Given the description of an element on the screen output the (x, y) to click on. 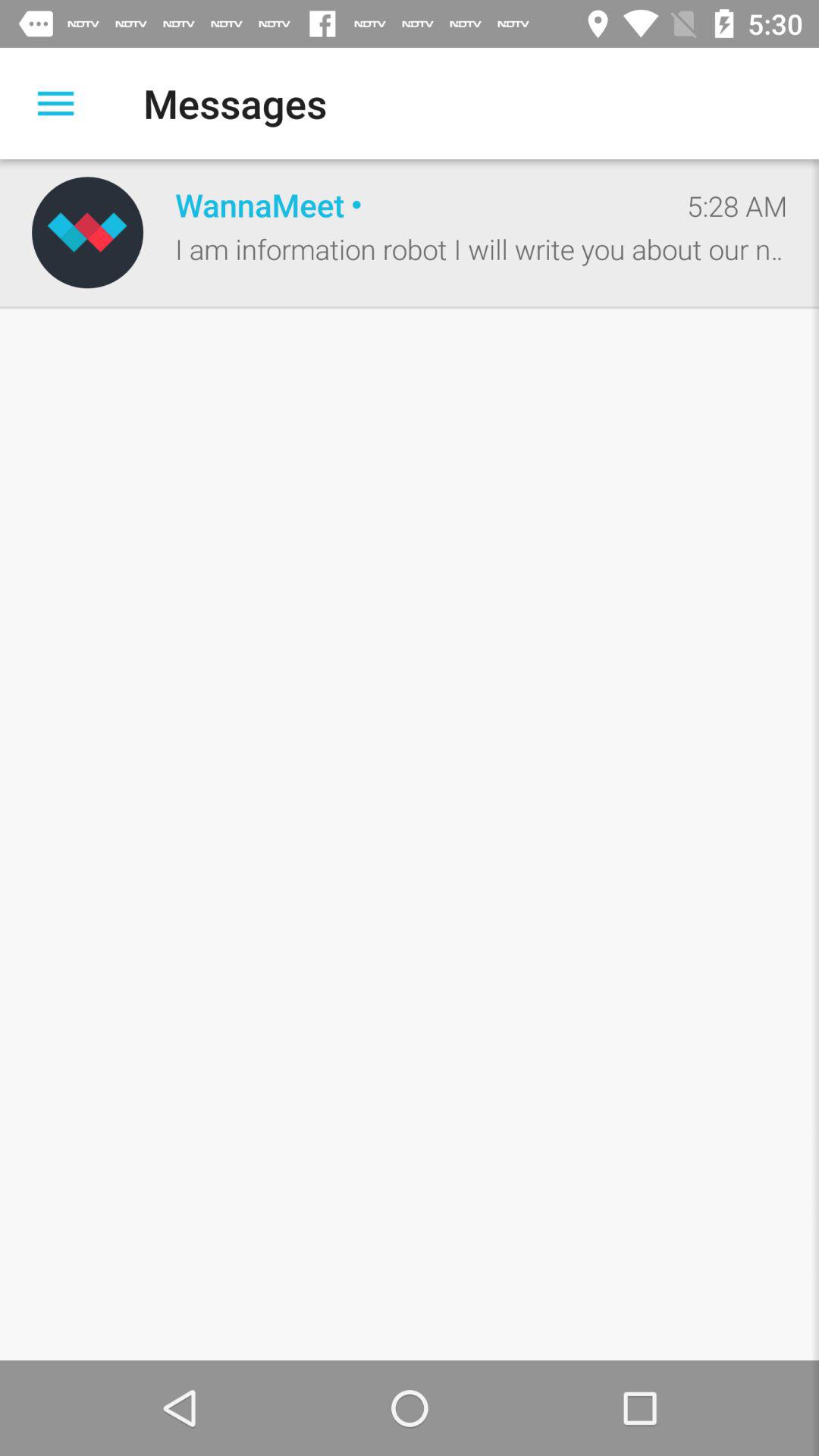
turn off icon below wannameet (481, 248)
